Given the description of an element on the screen output the (x, y) to click on. 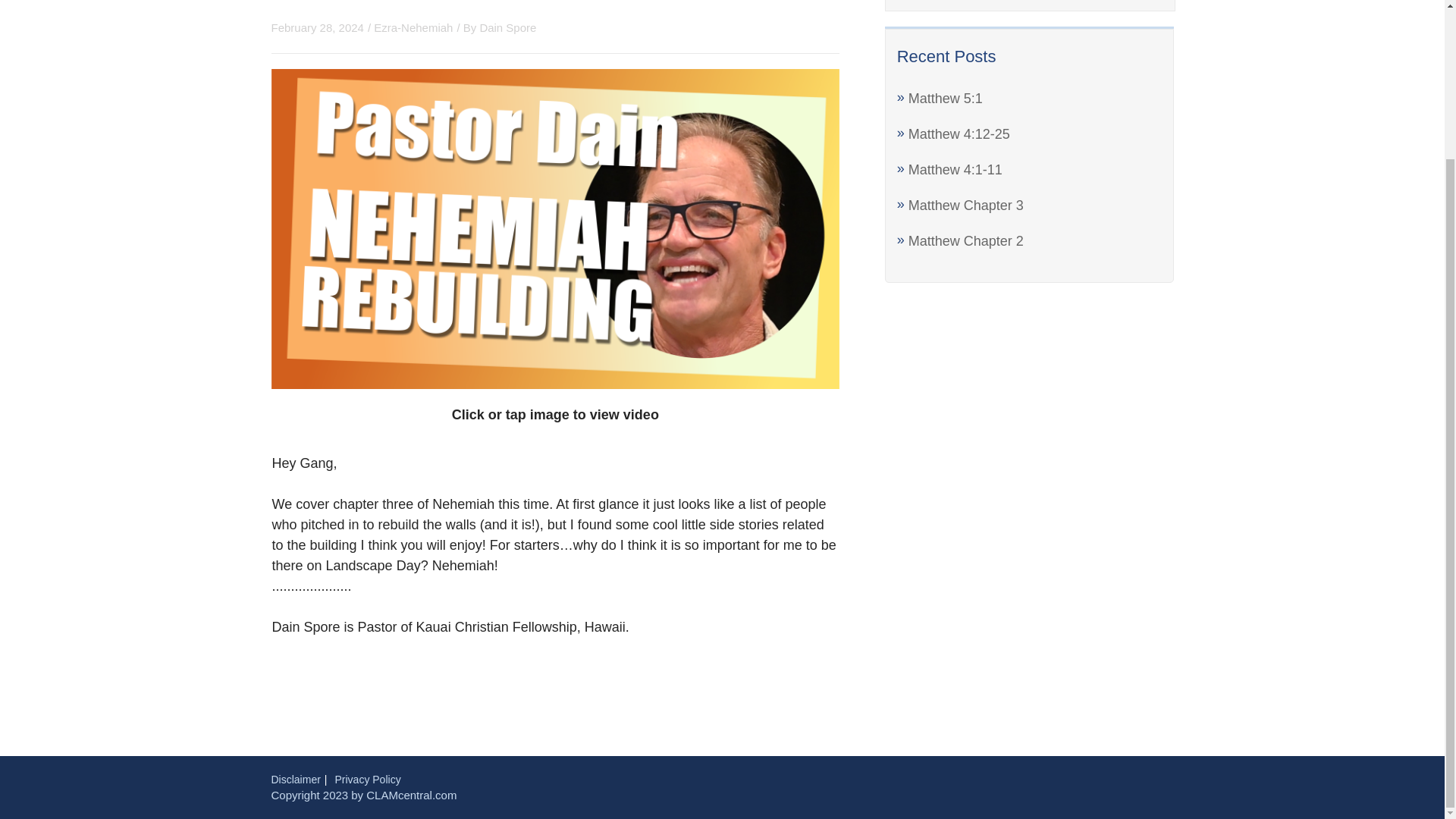
Dain Spore (507, 27)
Privacy Policy (367, 779)
Matthew Chapter 2 (965, 240)
Matthew 4:12-25 (959, 133)
Matthew 5:1 (945, 98)
Ezra-Nehemiah (413, 27)
Matthew 4:1-11 (955, 169)
Nehemiah 2:11-3:32 (429, 3)
Matthew Chapter 3 (965, 205)
Disclaimer (295, 779)
